Given the description of an element on the screen output the (x, y) to click on. 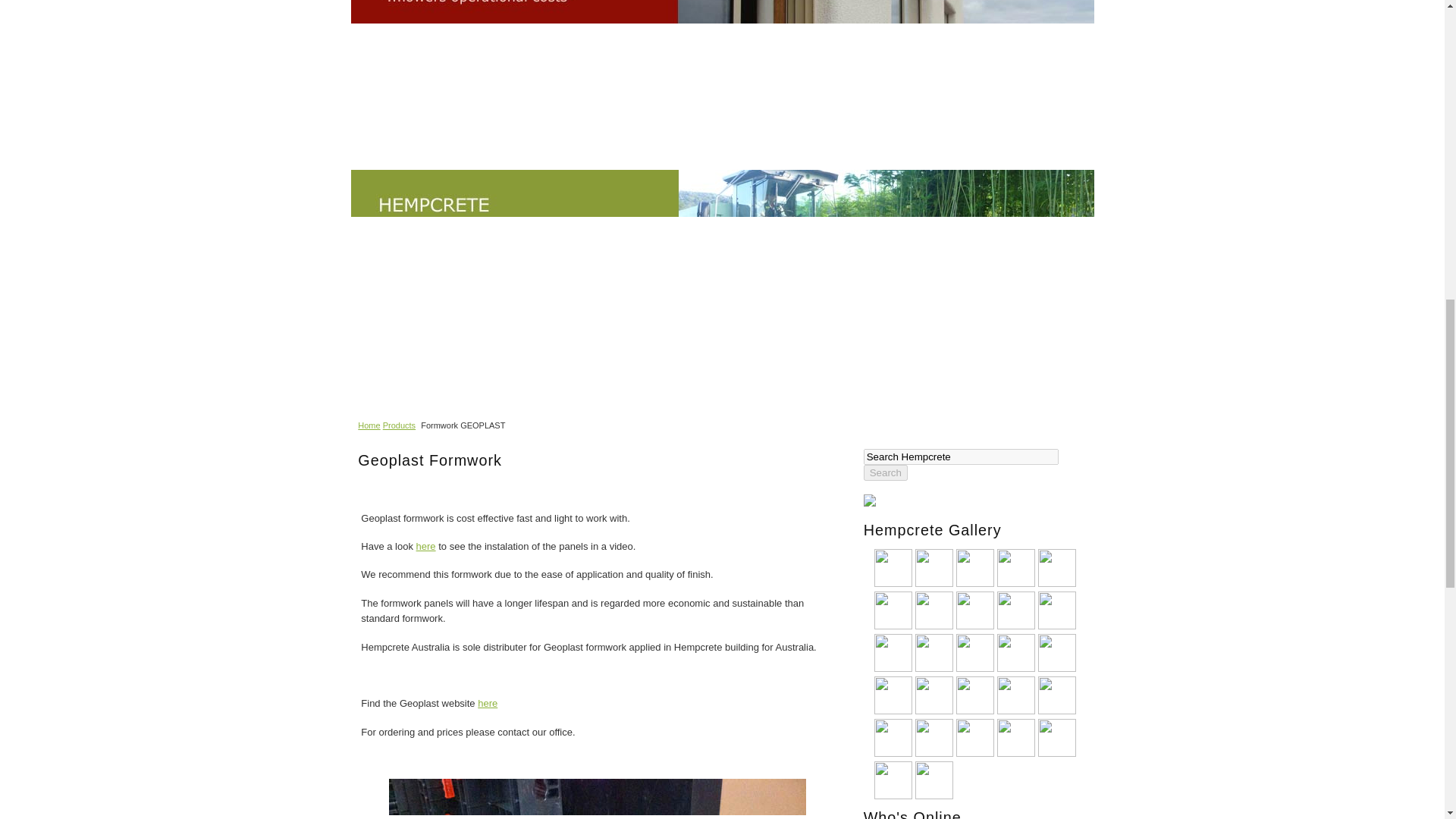
here (487, 703)
here (425, 546)
Products (398, 424)
Search (885, 472)
Home (369, 424)
